Given the description of an element on the screen output the (x, y) to click on. 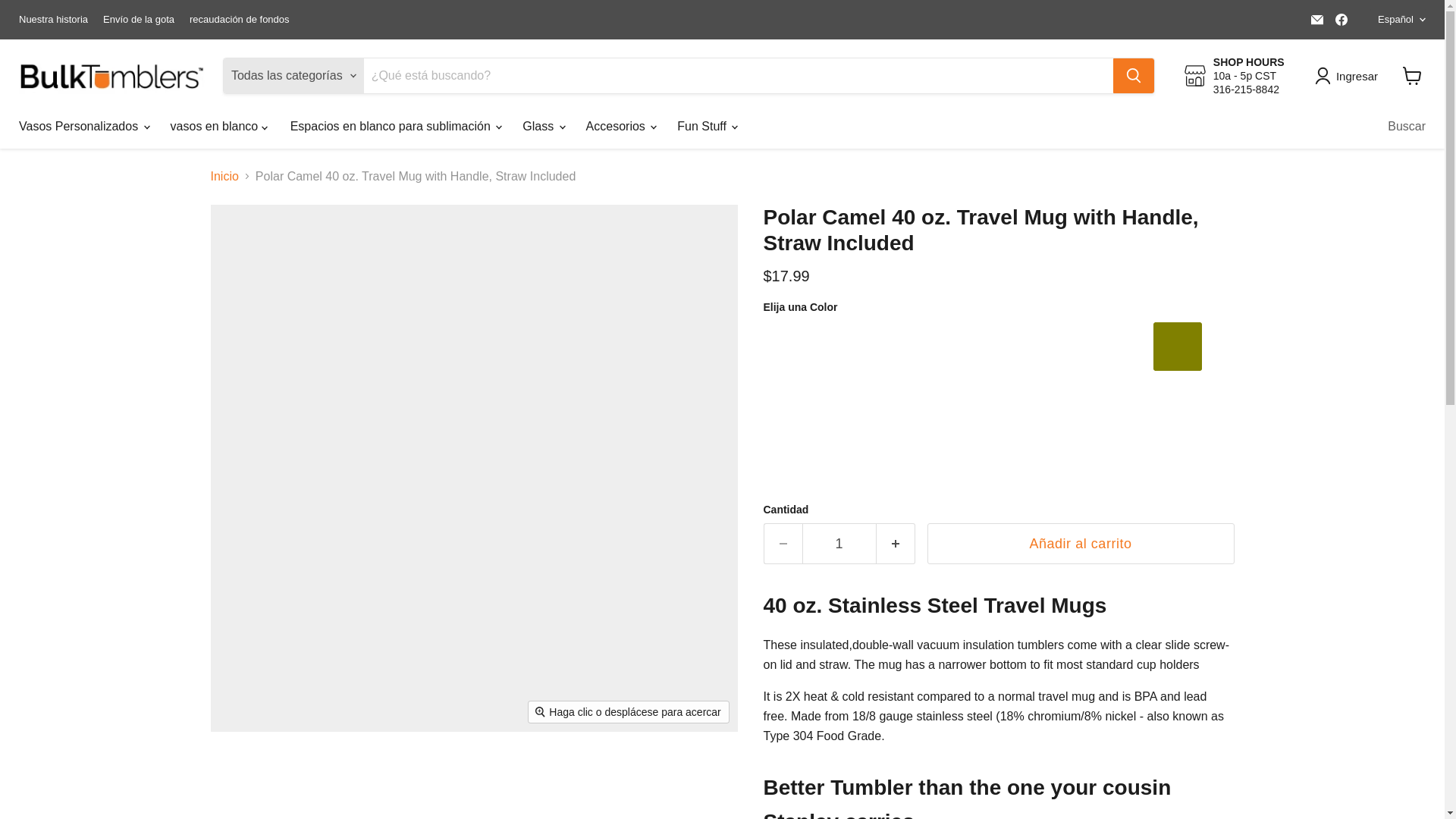
1 (839, 544)
Nuestra historia (52, 19)
Facebook (1341, 19)
Ver carrito (1411, 75)
Ingresar (1349, 75)
